Given the description of an element on the screen output the (x, y) to click on. 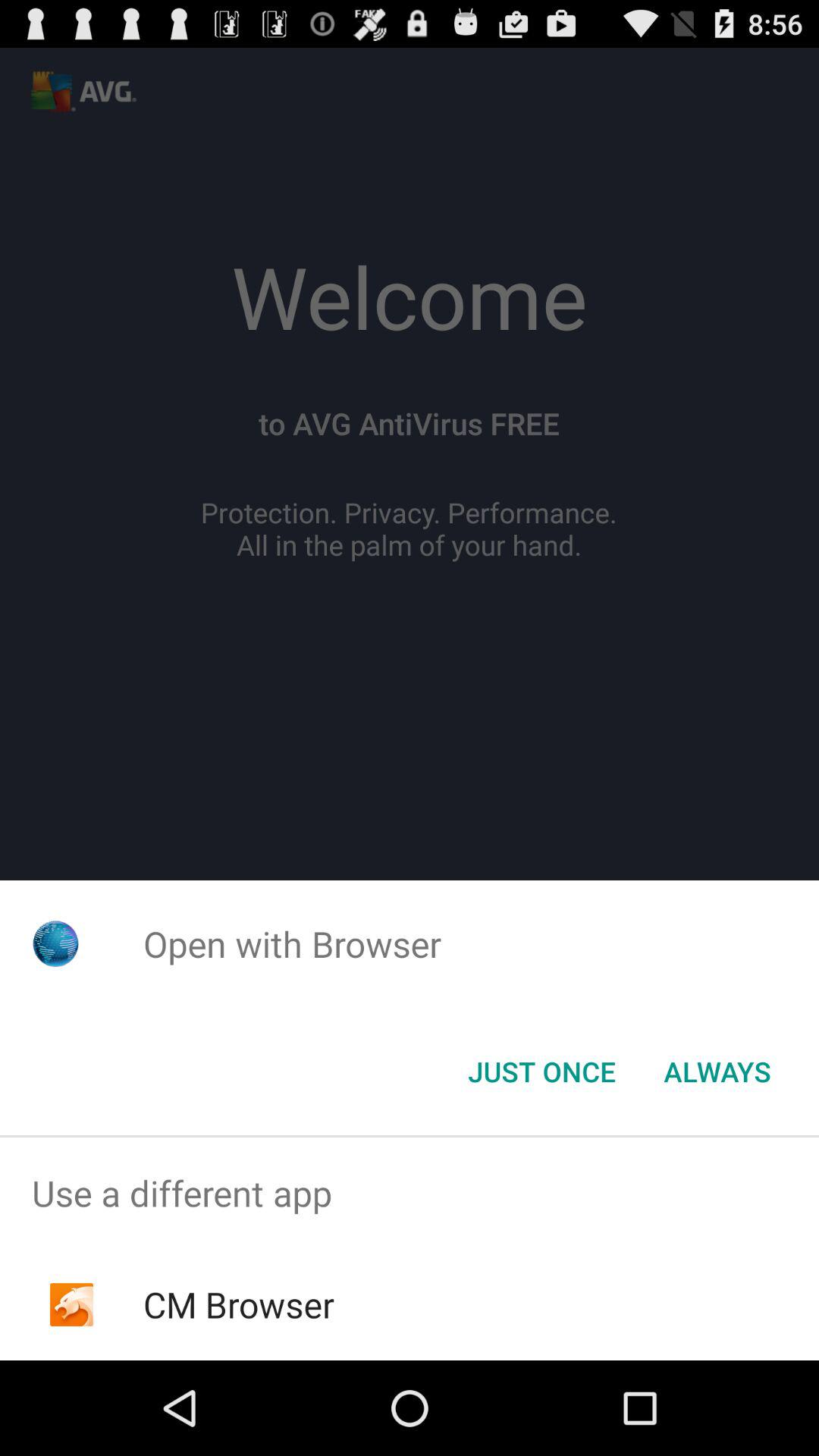
flip to use a different item (409, 1192)
